Given the description of an element on the screen output the (x, y) to click on. 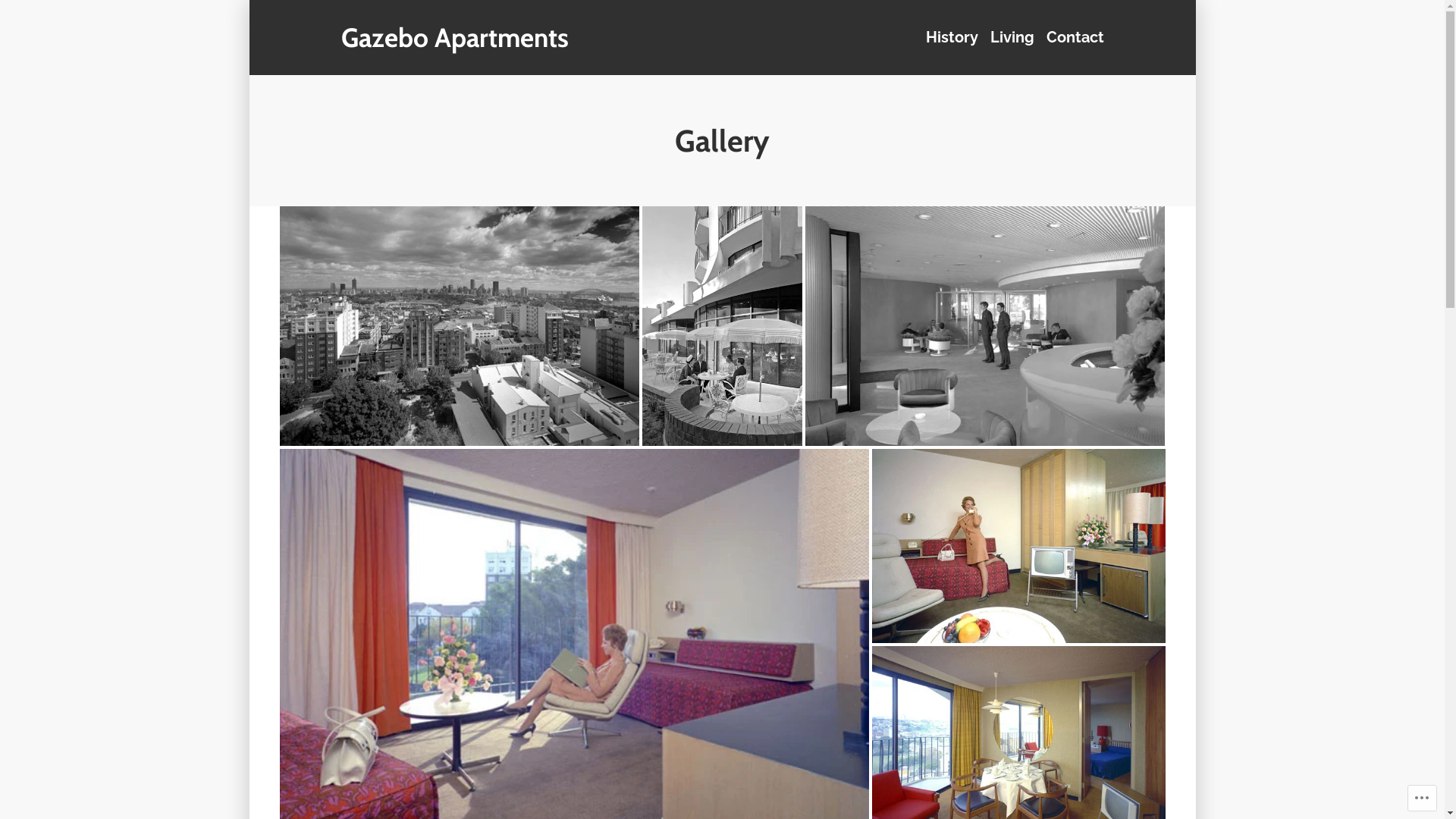
Living Element type: text (1012, 37)
History Element type: text (954, 37)
Contact Element type: text (1072, 37)
Gazebo Apartments Element type: text (454, 37)
